Given the description of an element on the screen output the (x, y) to click on. 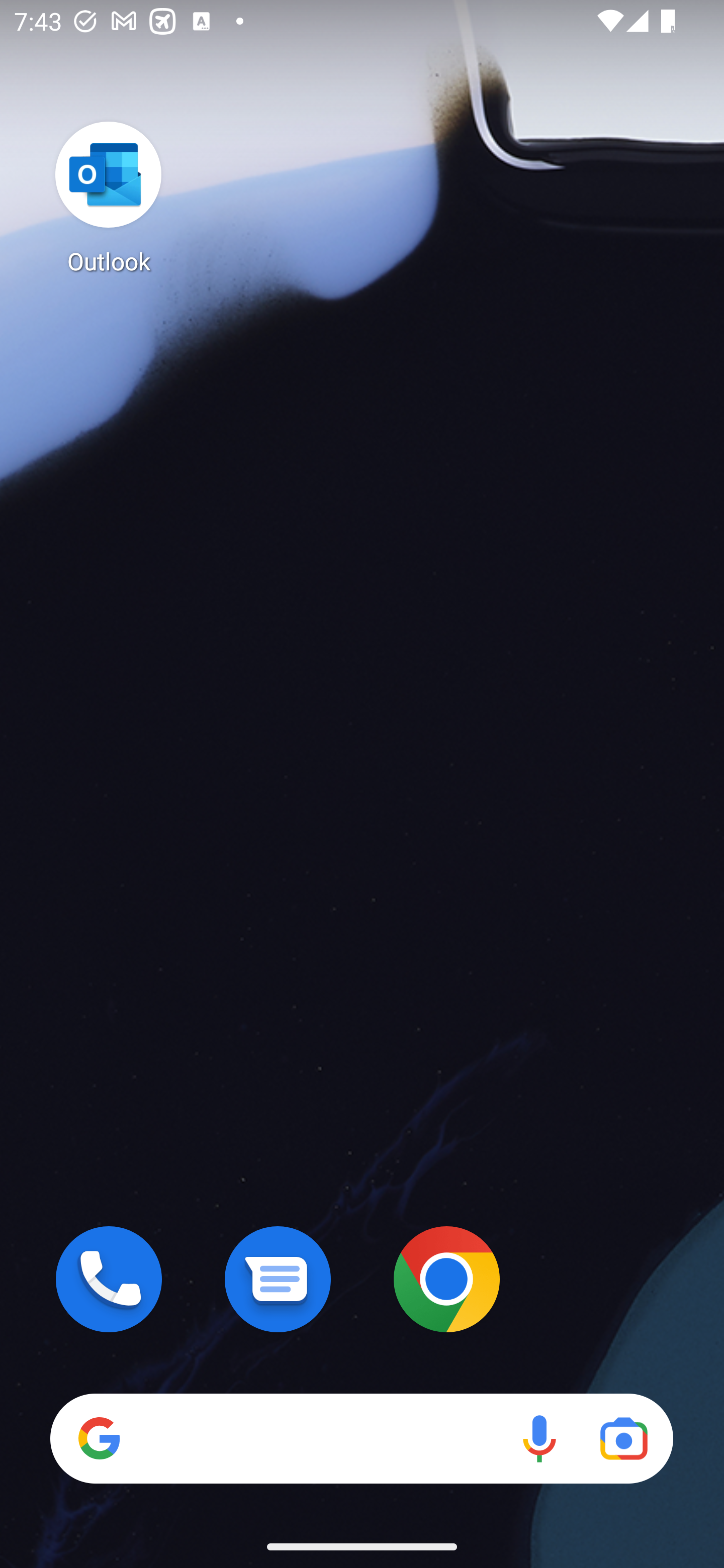
Outlook (108, 196)
Phone (108, 1279)
Messages (277, 1279)
Chrome (446, 1279)
Voice search (539, 1438)
Google Lens (623, 1438)
